Given the description of an element on the screen output the (x, y) to click on. 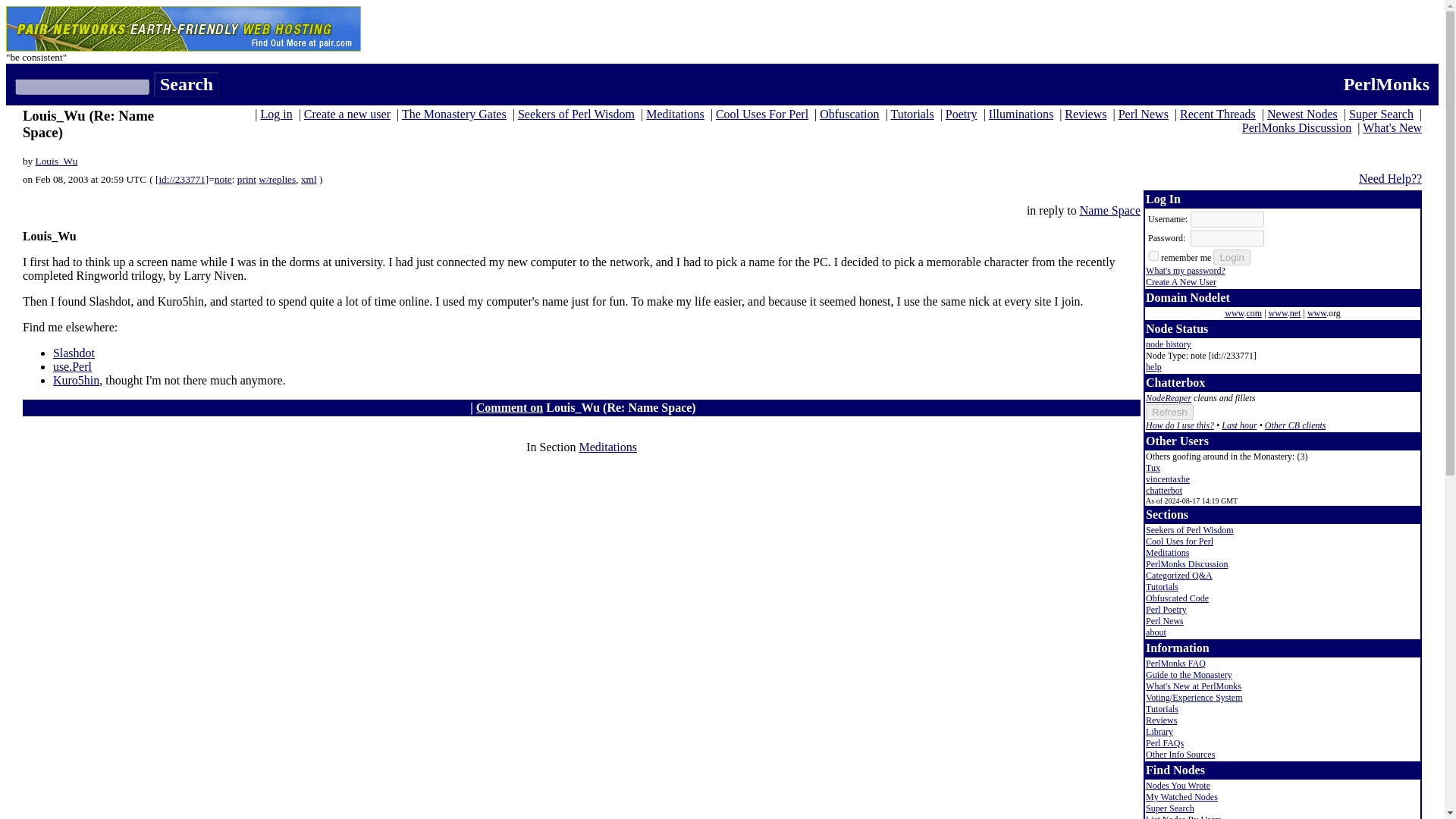
Cool Uses For Perl (762, 113)
Comment on (509, 407)
Create a new user (347, 113)
www (1233, 312)
use.Perl (71, 366)
PerlMonks Discussion (1296, 127)
Login (1231, 257)
Slashdot (73, 352)
print (246, 179)
Search (186, 84)
